Given the description of an element on the screen output the (x, y) to click on. 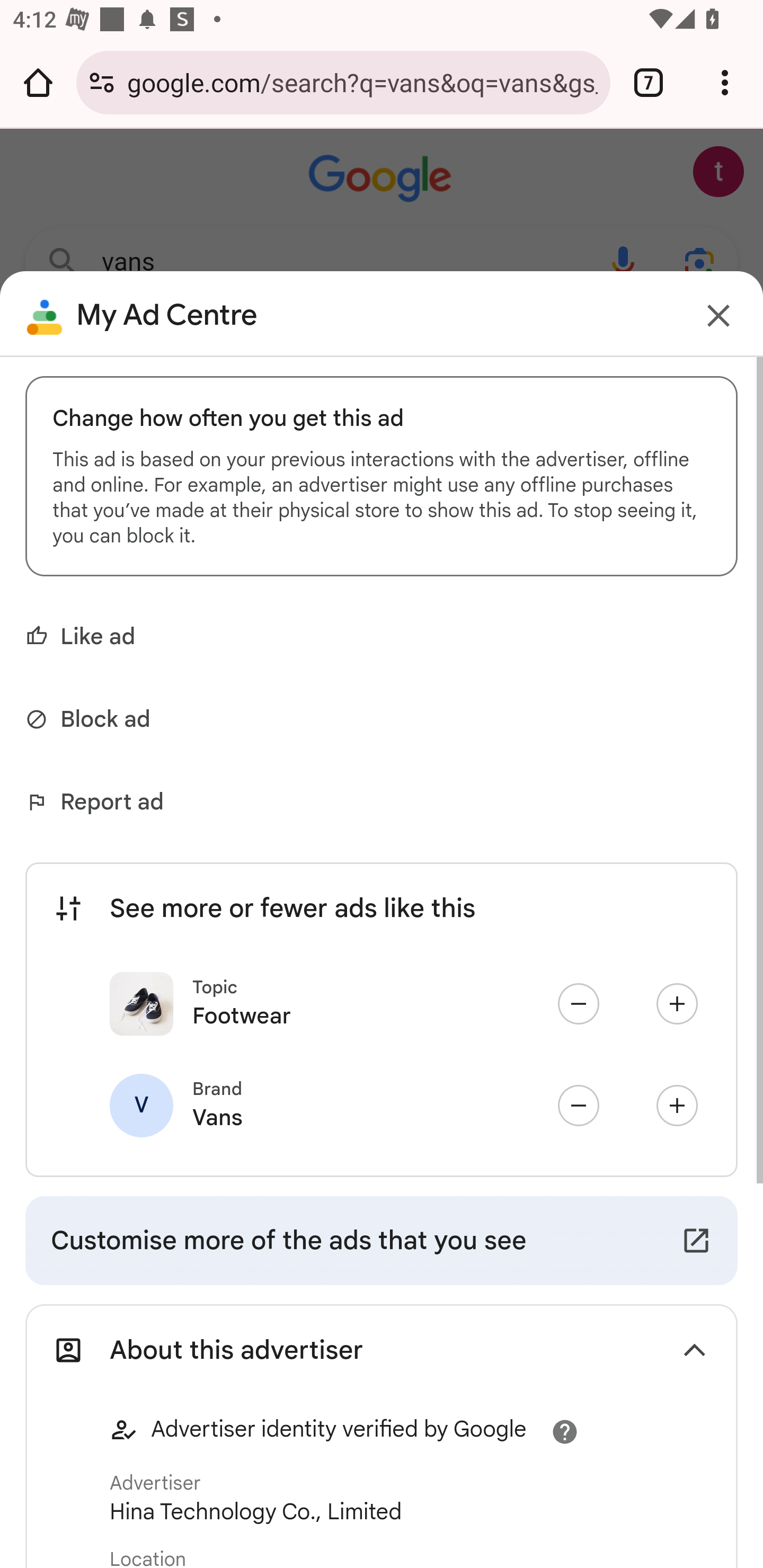
Open the home page (38, 82)
Connection is secure (101, 82)
Switch or close tabs (648, 82)
Customize and control Google Chrome (724, 82)
